Given the description of an element on the screen output the (x, y) to click on. 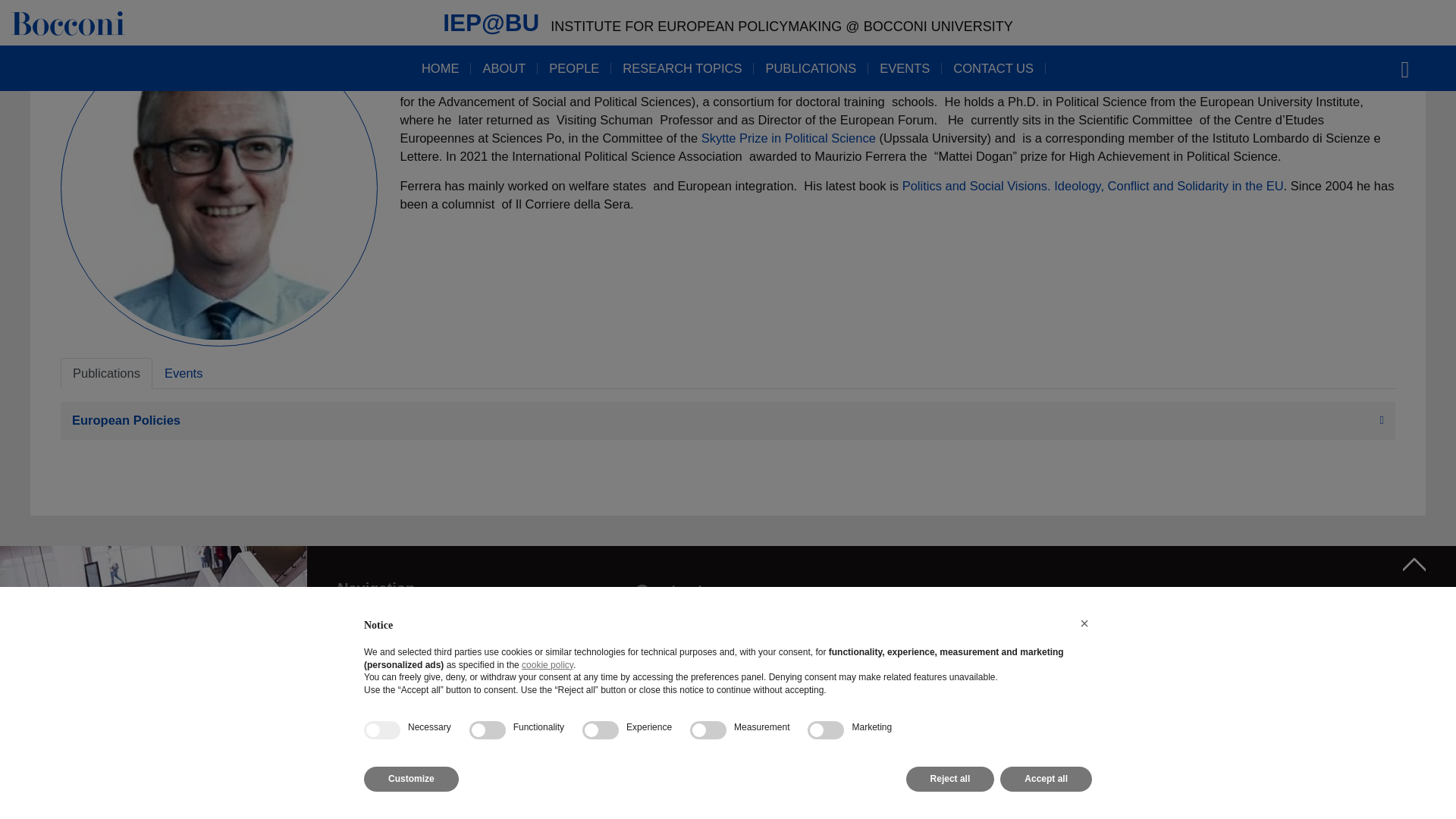
false (826, 497)
true (382, 497)
Bocconi home page (153, 680)
false (600, 497)
Maurizio Ferrera (219, 187)
false (486, 497)
false (708, 497)
